Given the description of an element on the screen output the (x, y) to click on. 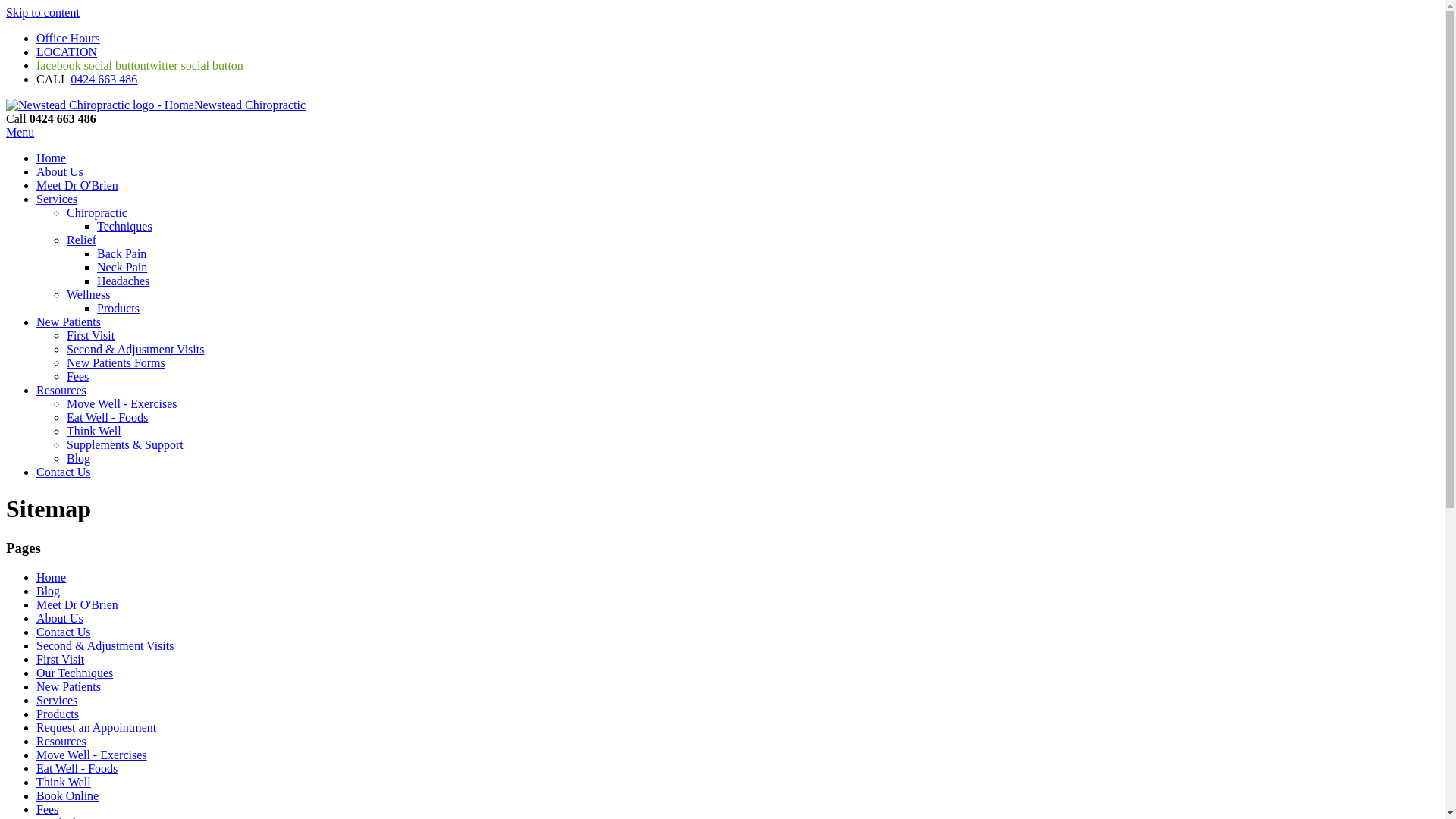
Contact Us Element type: text (63, 471)
New Patients Forms Element type: text (115, 362)
About Us Element type: text (59, 617)
Relief Element type: text (81, 239)
First Visit Element type: text (60, 658)
Home Element type: text (50, 577)
0424 663 486 Element type: text (103, 78)
Think Well Element type: text (93, 430)
Blog Element type: text (47, 590)
Menu Element type: text (20, 131)
Skip to content Element type: text (42, 12)
Our Techniques Element type: text (74, 672)
New Patients Element type: text (68, 686)
About Us Element type: text (59, 171)
Fees Element type: text (47, 809)
Chiropractic Element type: text (96, 212)
Think Well Element type: text (63, 781)
Book Online Element type: text (67, 795)
Supplements & Support Element type: text (124, 444)
Fees Element type: text (77, 376)
Resources Element type: text (61, 389)
Products Element type: text (118, 307)
Second & Adjustment Visits Element type: text (104, 645)
Meet Dr O'Brien Element type: text (77, 604)
Blog Element type: text (78, 457)
LOCATION Element type: text (66, 51)
Services Element type: text (56, 198)
New Patients Element type: text (68, 321)
twitter social button Element type: text (194, 65)
Request an Appointment Element type: text (96, 727)
Services Element type: text (56, 699)
Second & Adjustment Visits Element type: text (134, 348)
Home Element type: text (50, 157)
Resources Element type: text (61, 740)
First Visit Element type: text (90, 335)
Back Pain Element type: text (121, 253)
Contact Us Element type: text (63, 631)
Neck Pain Element type: text (122, 266)
Eat Well - Foods Element type: text (106, 417)
Newstead Chiropractic Element type: text (155, 104)
facebook social button Element type: text (91, 65)
Wellness Element type: text (87, 294)
Office Hours Element type: text (68, 37)
Move Well - Exercises Element type: text (91, 754)
Products Element type: text (57, 713)
Meet Dr O'Brien Element type: text (77, 184)
Eat Well - Foods Element type: text (76, 768)
Move Well - Exercises Element type: text (121, 403)
Headaches Element type: text (123, 280)
Techniques Element type: text (124, 225)
